Given the description of an element on the screen output the (x, y) to click on. 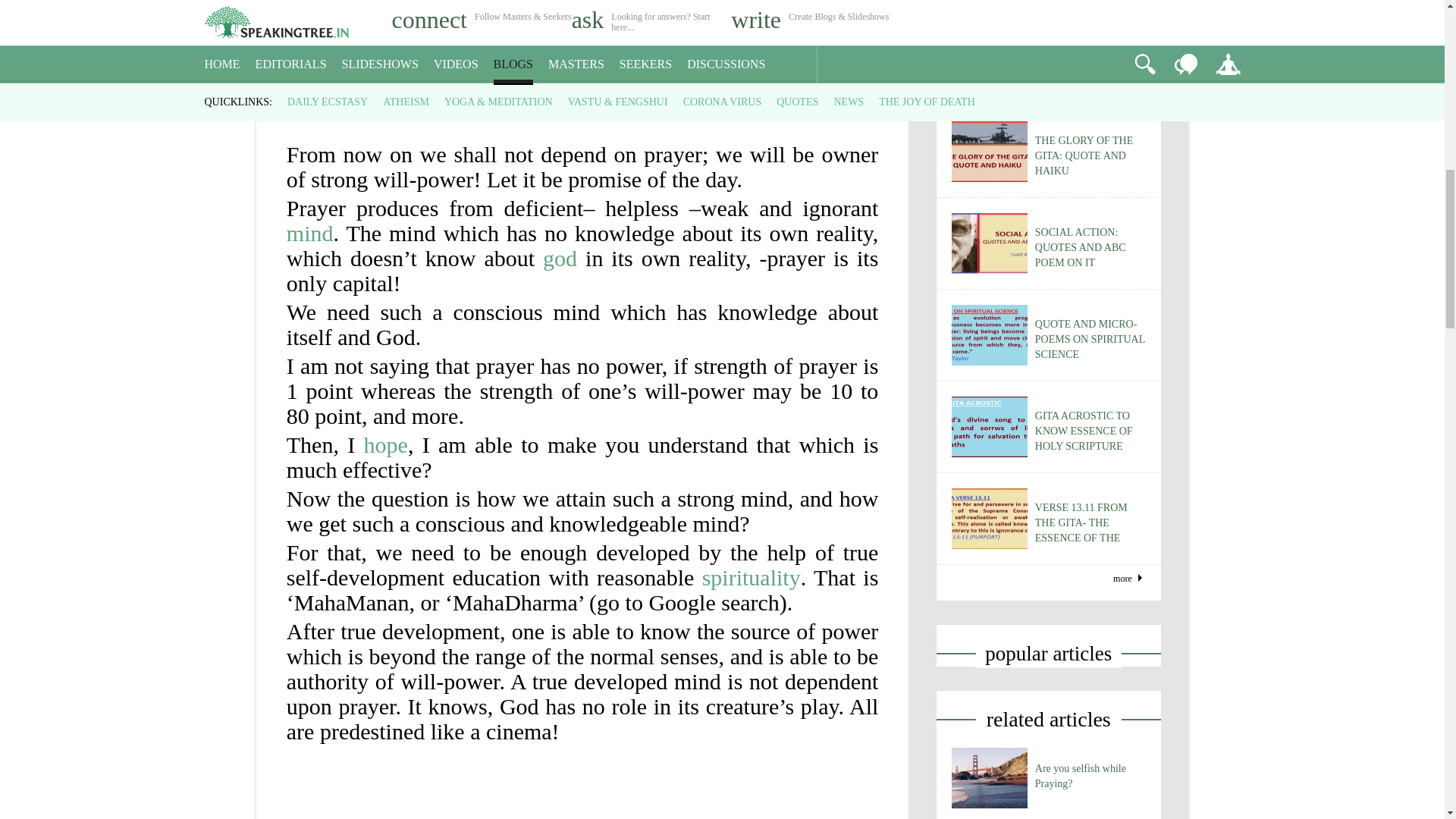
Share on Whatsapp (109, 150)
3rd party ad content (582, 25)
Share on LinkedIn (76, 150)
Share on Facebook (11, 150)
Share on Twitter (44, 150)
